Given the description of an element on the screen output the (x, y) to click on. 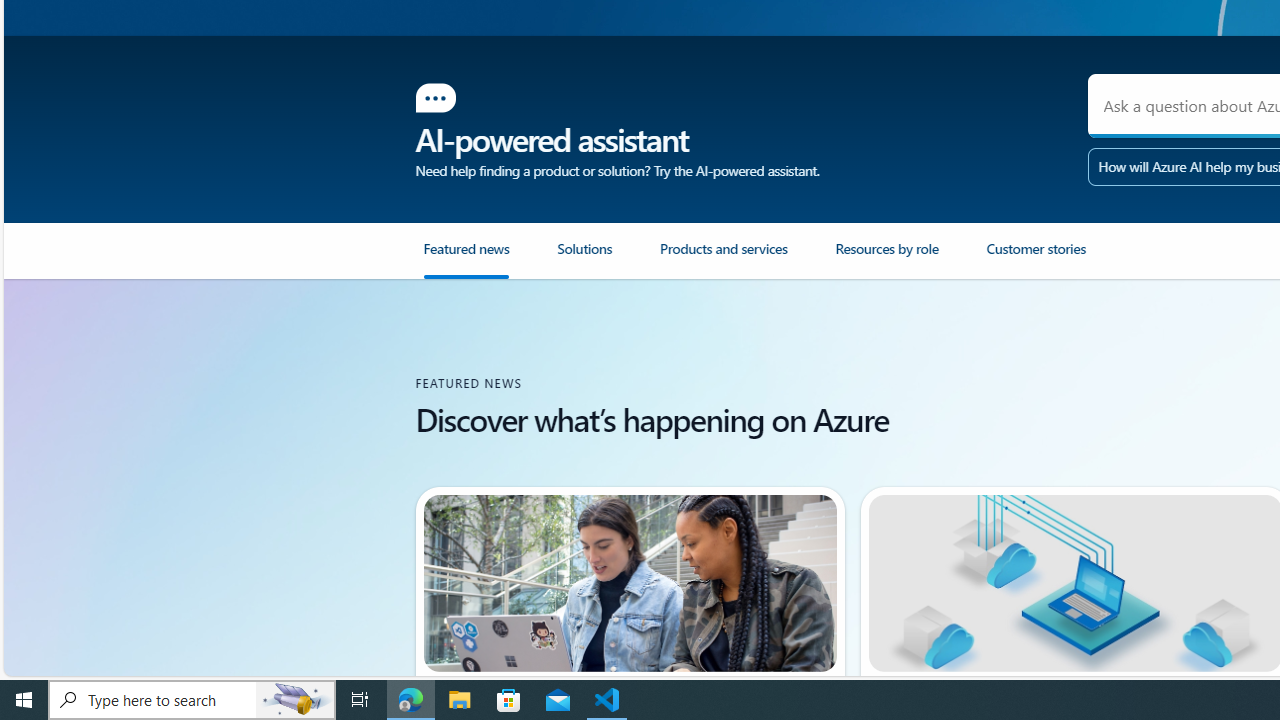
Customer stories (1061, 259)
Featured news (465, 257)
Customer stories (1035, 257)
Products and services (747, 259)
Products and services (724, 257)
Resources by role (910, 259)
Solutions (608, 259)
Featured news (488, 259)
Resources by role (886, 257)
Solutions (584, 257)
